Given the description of an element on the screen output the (x, y) to click on. 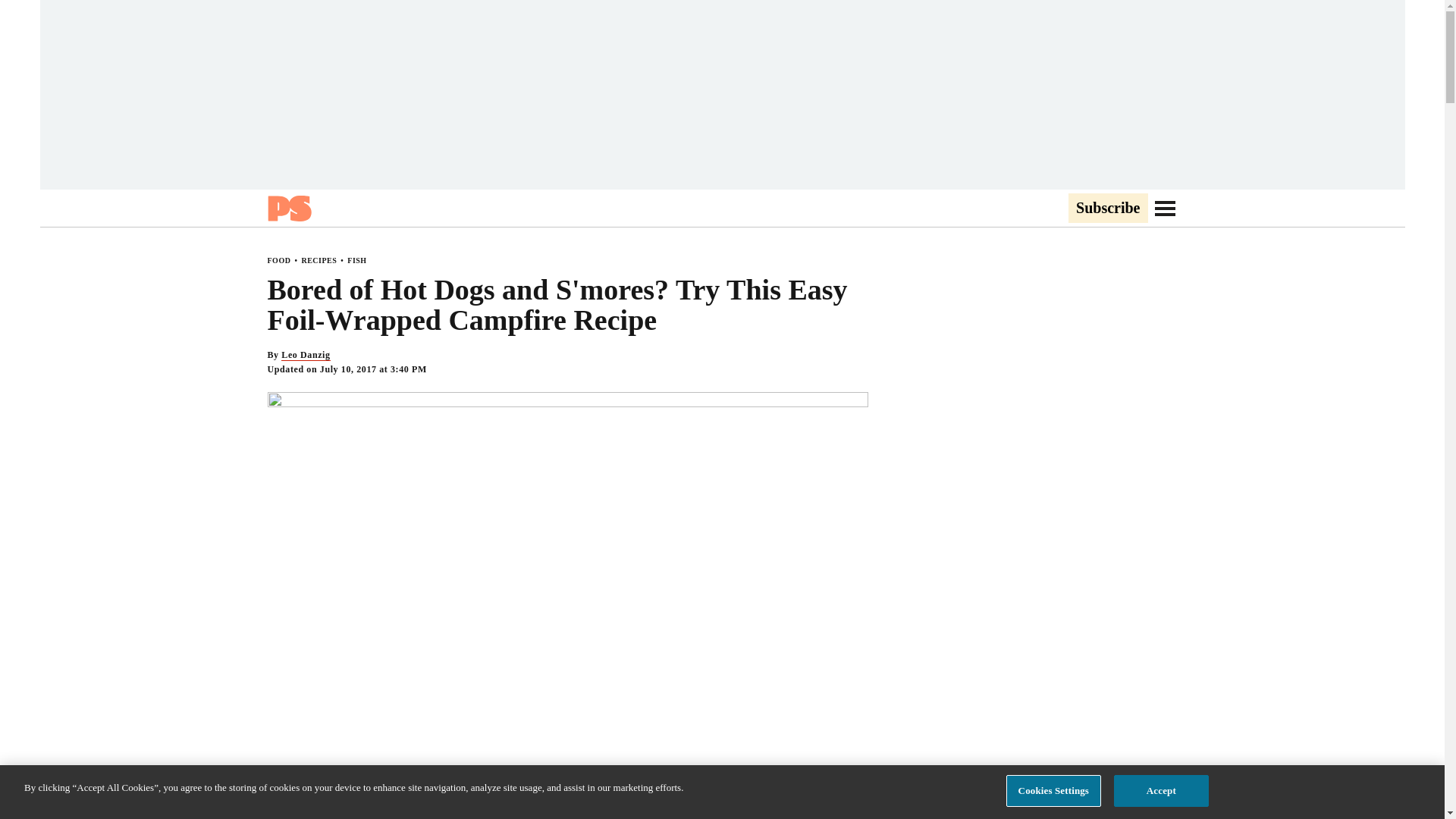
Go to Navigation (1164, 207)
FOOD (277, 260)
Go to Navigation (1164, 207)
Subscribe (1107, 208)
Leo Danzig (305, 355)
FISH (356, 260)
RECIPES (318, 260)
Popsugar (288, 208)
